Given the description of an element on the screen output the (x, y) to click on. 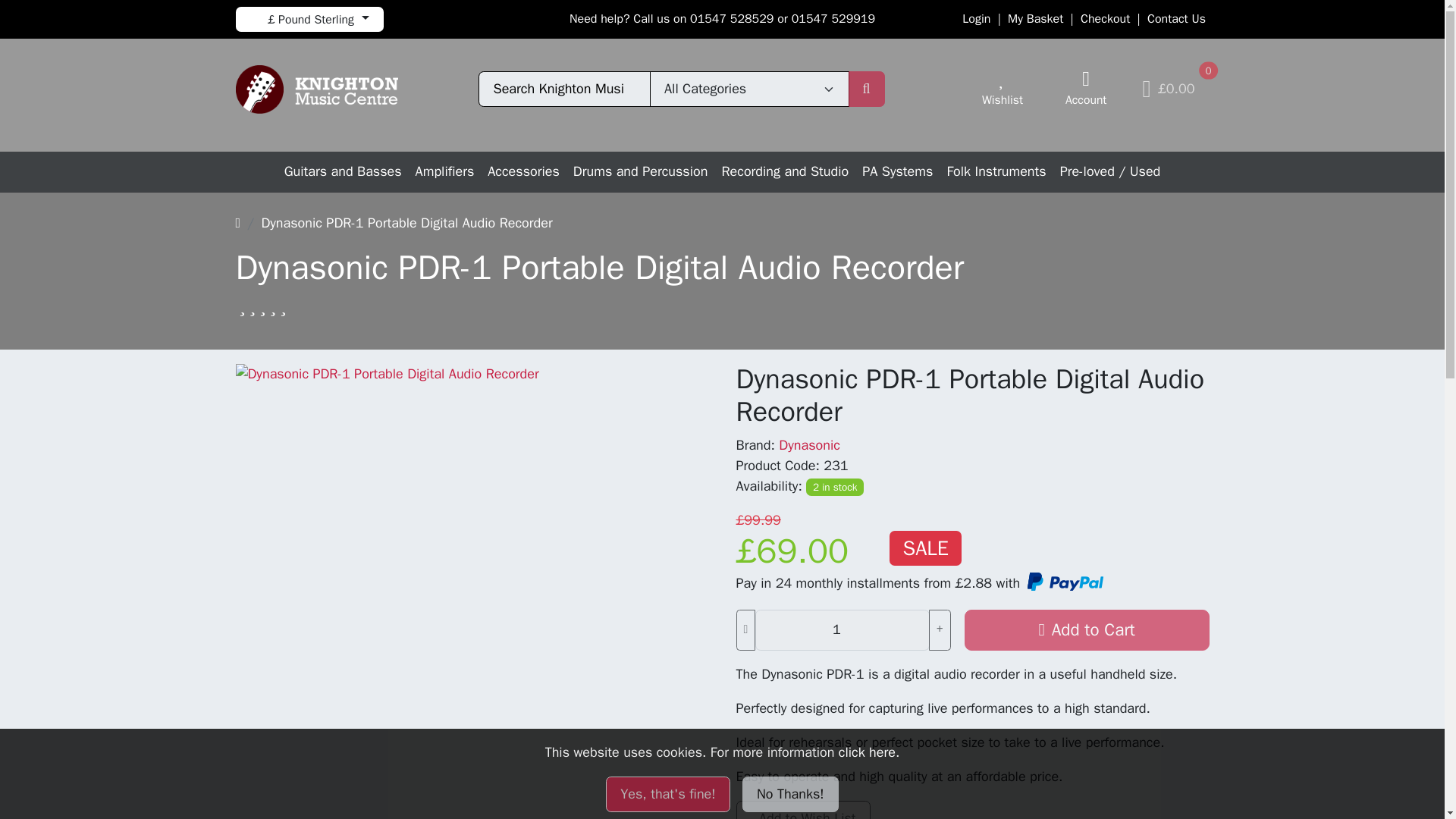
Guitars and Basses (343, 171)
01547 529919 (833, 18)
Contact Us (1176, 18)
01547 528529 (731, 18)
1 (841, 629)
Account (1086, 89)
Currency (308, 18)
How PayPal Works (1064, 582)
Amplifiers (445, 171)
